Given the description of an element on the screen output the (x, y) to click on. 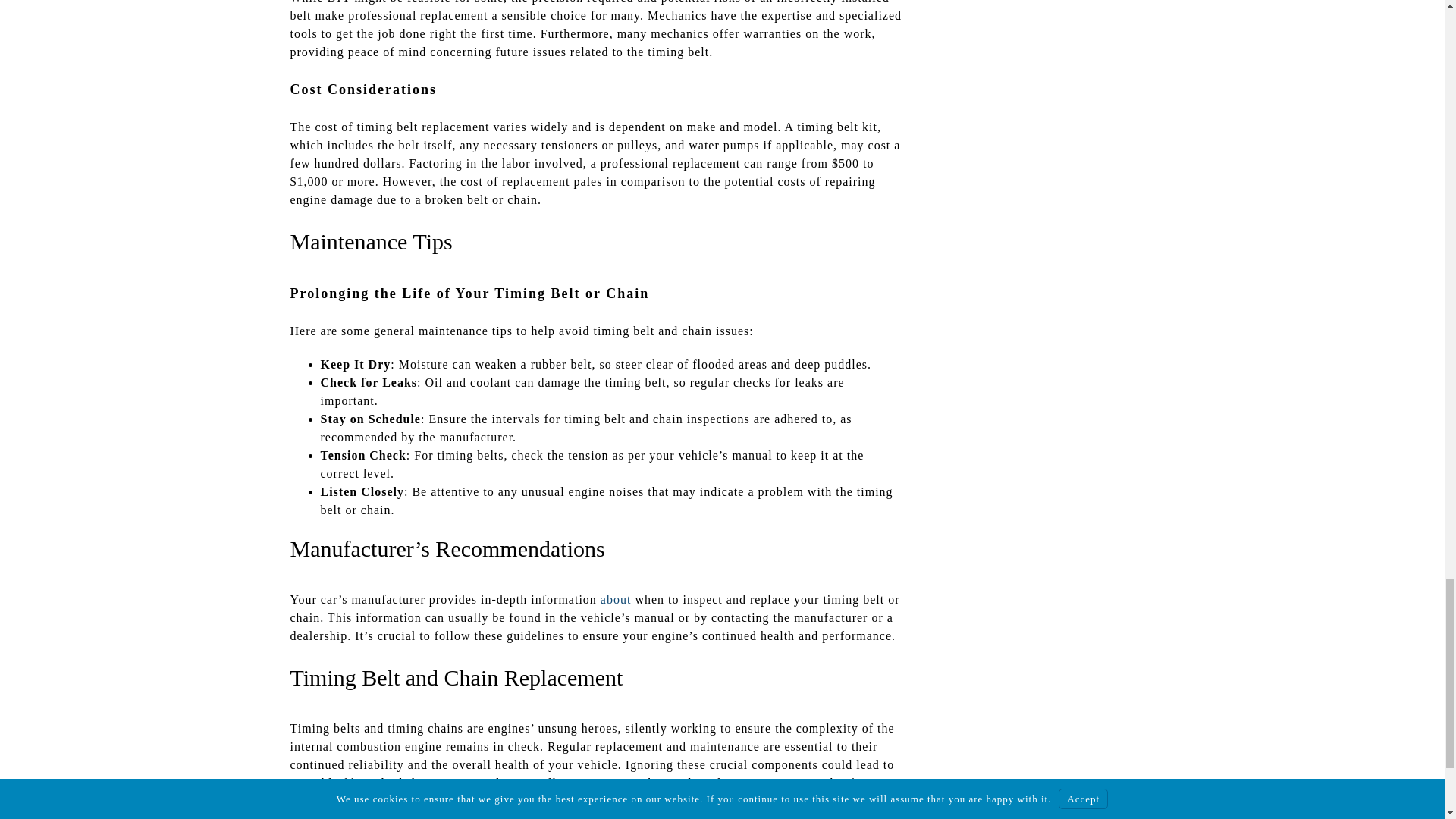
about (615, 599)
